Given the description of an element on the screen output the (x, y) to click on. 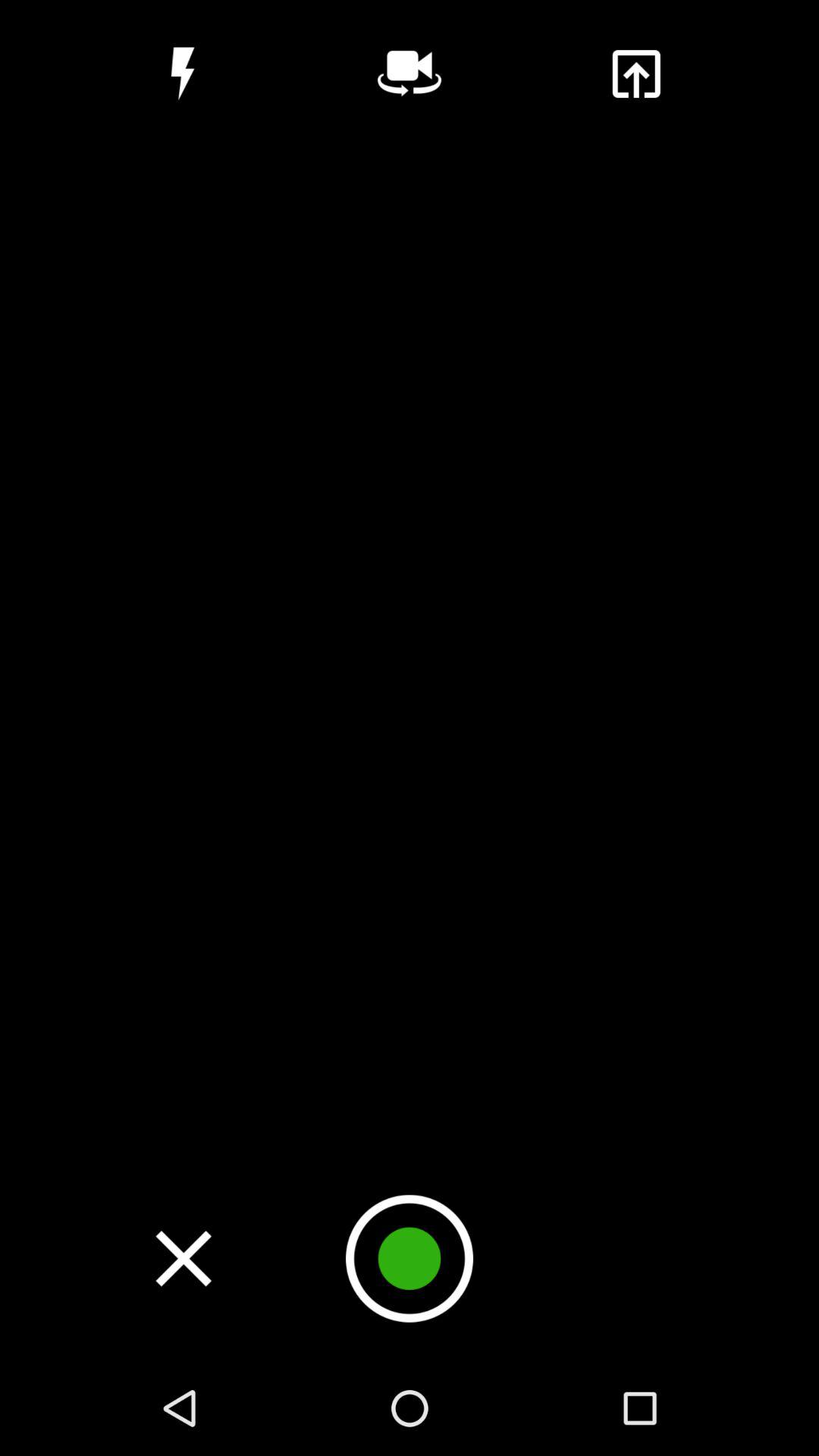
flip video (409, 73)
